Given the description of an element on the screen output the (x, y) to click on. 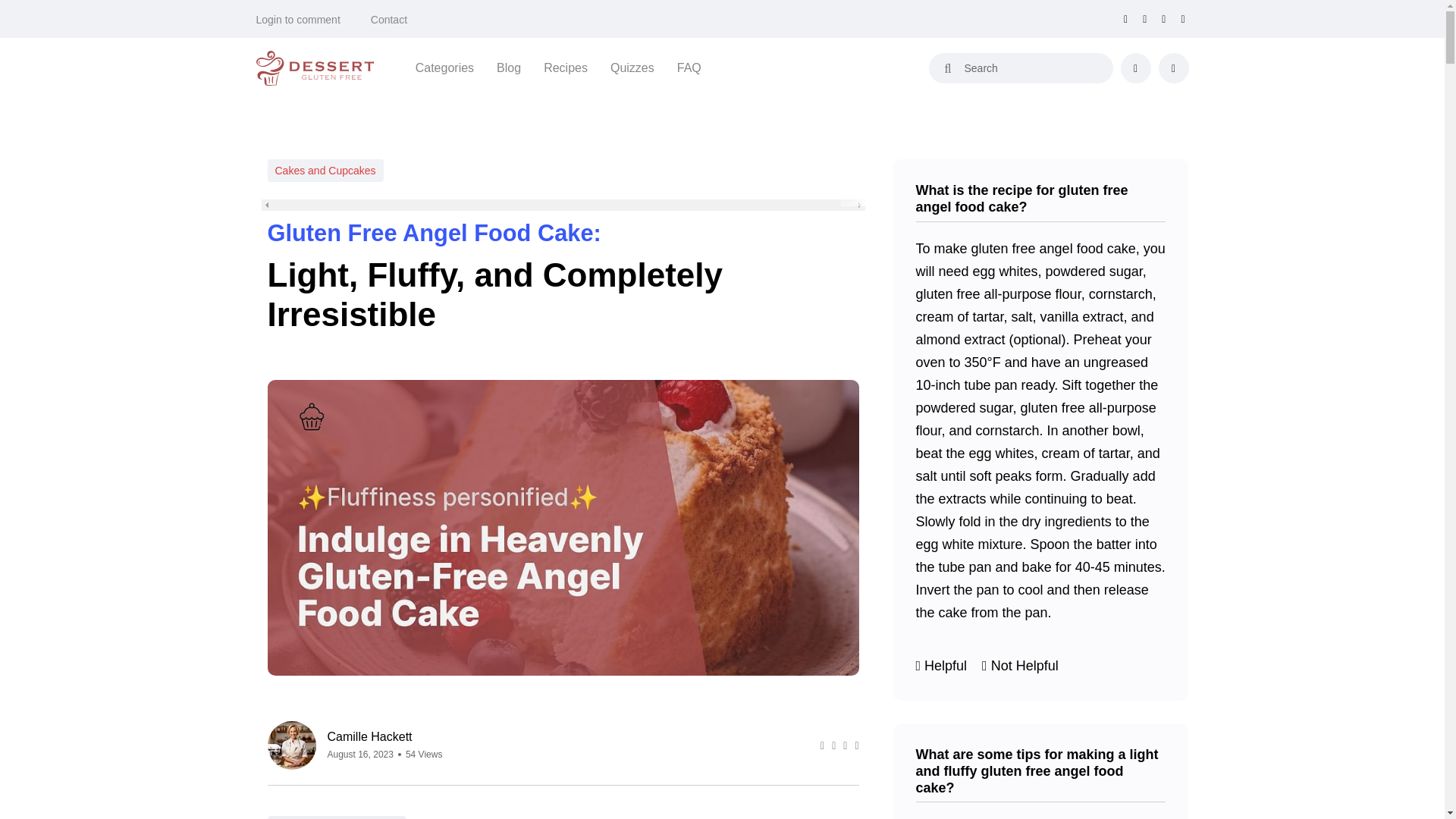
Login to comment (298, 19)
Contact (389, 19)
Categories (444, 67)
